Given the description of an element on the screen output the (x, y) to click on. 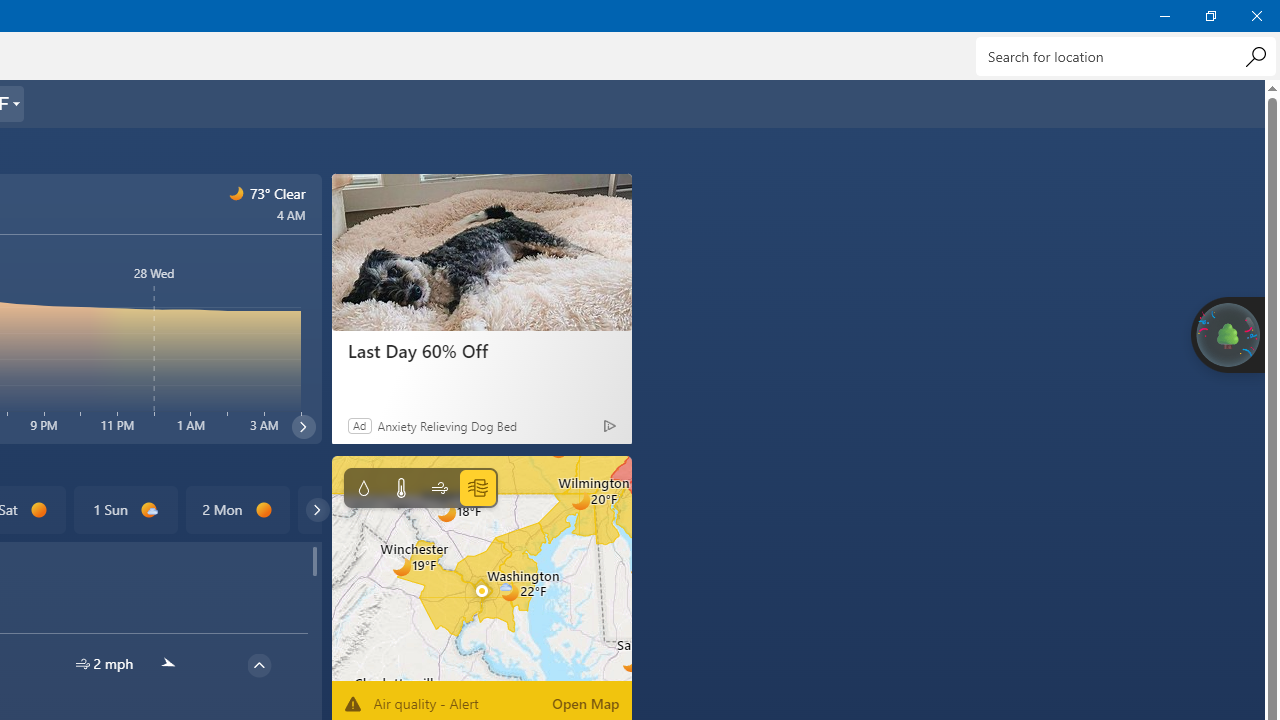
Close Weather (1256, 15)
Minimize Weather (1164, 15)
Search (1255, 56)
Search for location (1125, 56)
Restore Weather (1210, 15)
